Given the description of an element on the screen output the (x, y) to click on. 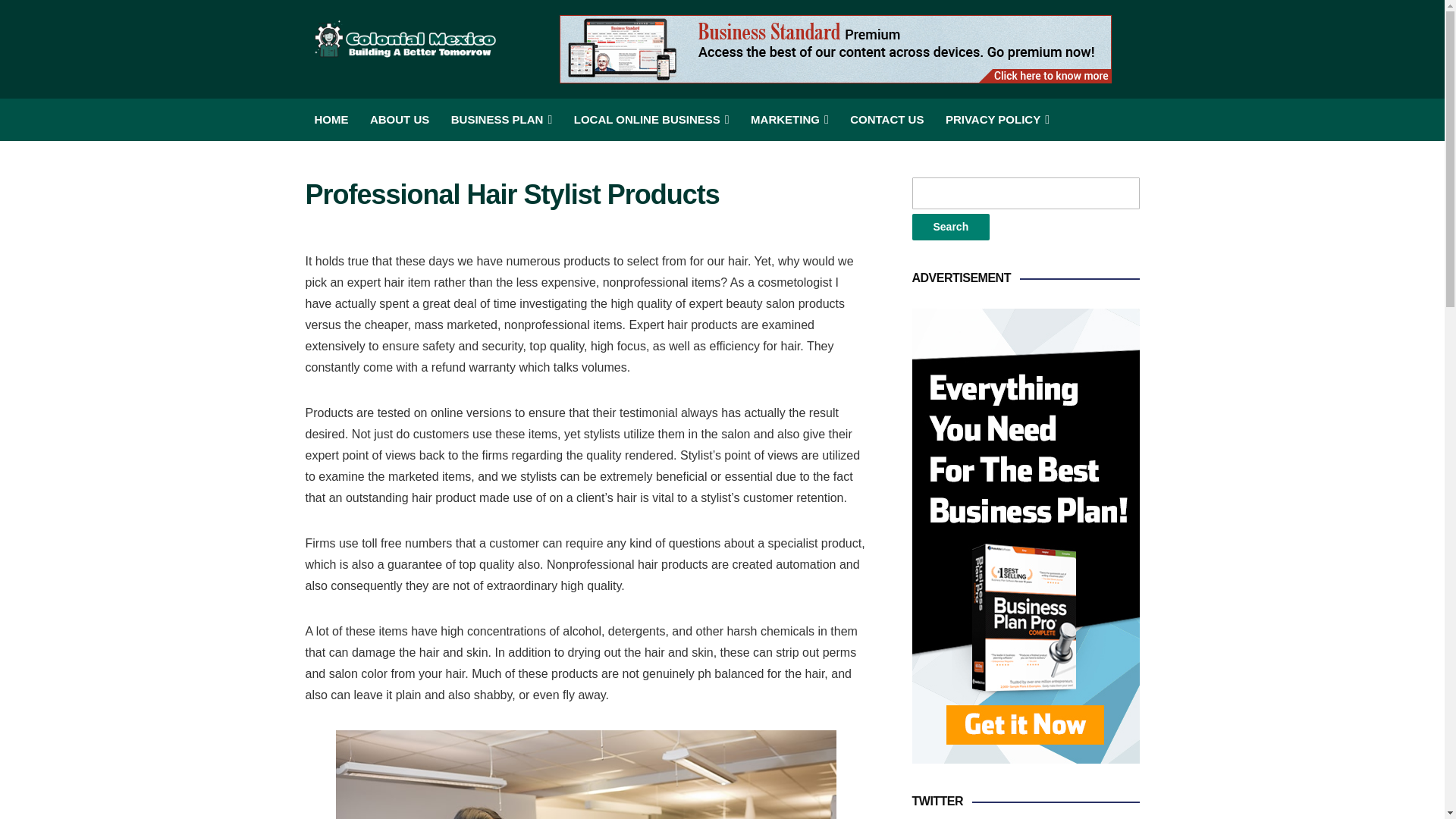
LOCAL ONLINE BUSINESS (651, 119)
Search (950, 226)
PRIVACY POLICY (997, 119)
ABOUT US (399, 119)
BUSINESS PLAN (501, 119)
CONTACT US (886, 119)
MARKETING (789, 119)
